Given the description of an element on the screen output the (x, y) to click on. 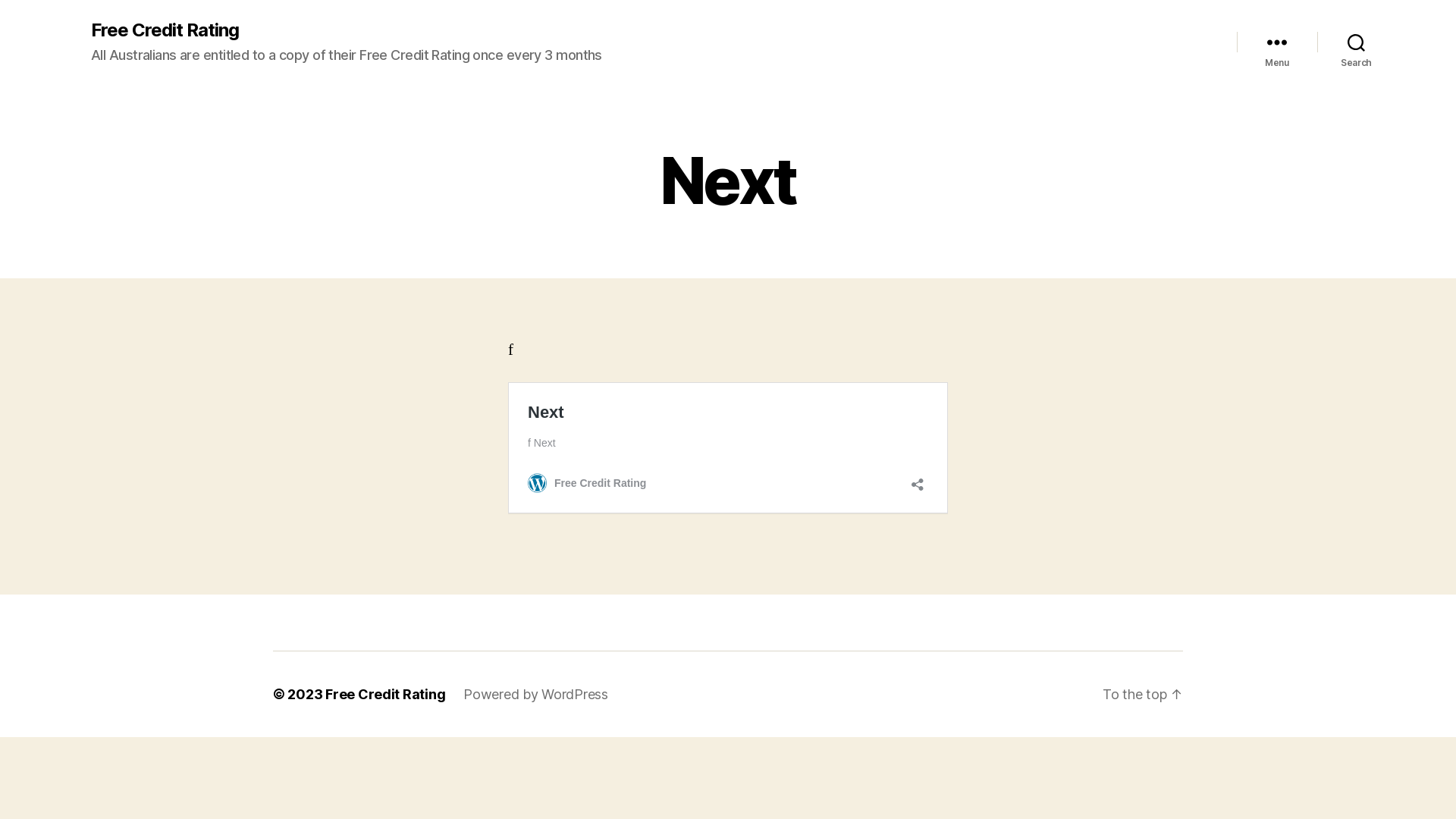
Free Credit Rating Element type: text (385, 694)
Free Credit Rating Element type: text (164, 30)
Powered by WordPress Element type: text (535, 694)
Search Element type: text (1356, 42)
Menu Element type: text (1276, 42)
